Given the description of an element on the screen output the (x, y) to click on. 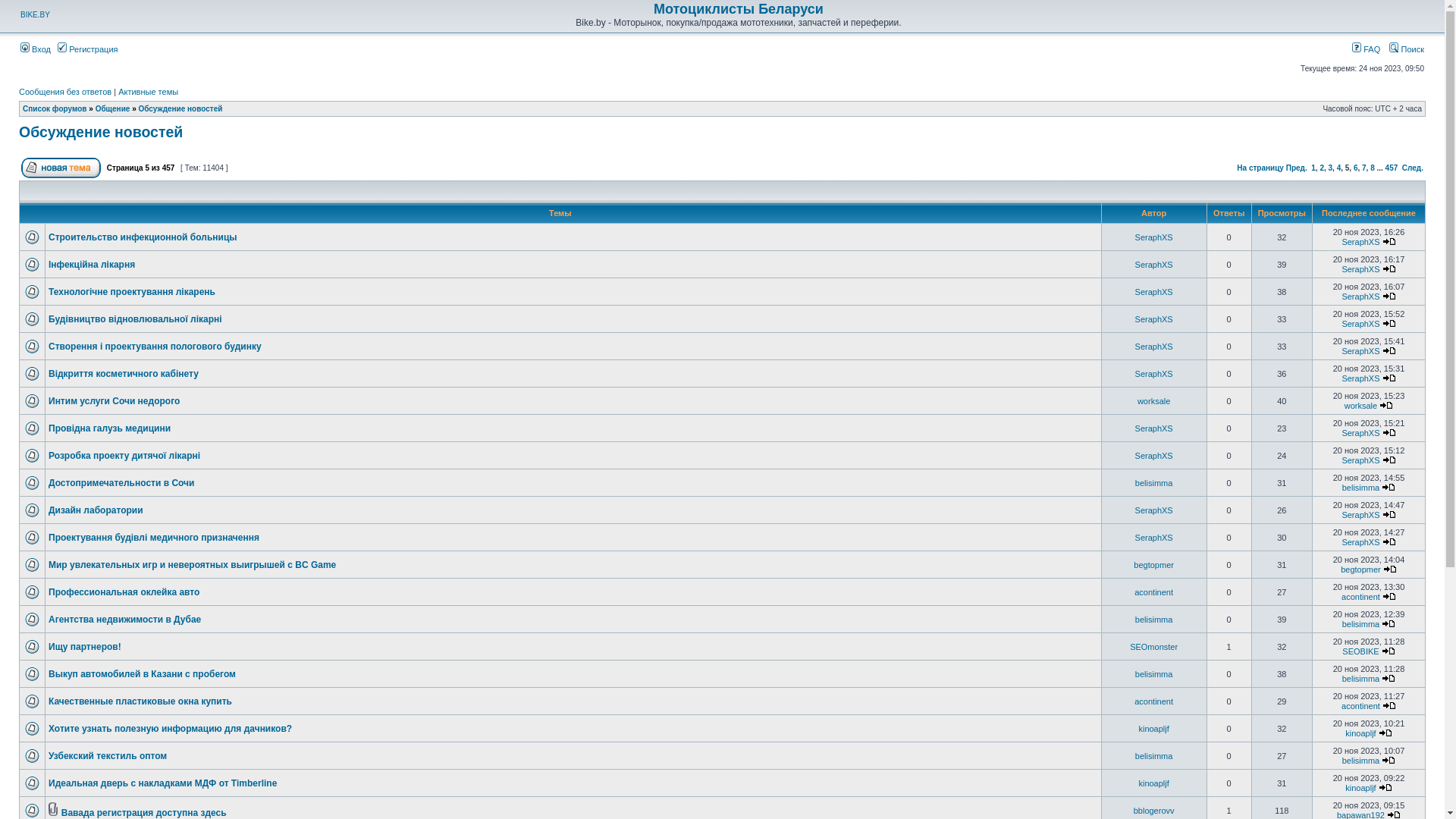
SeraphXS Element type: text (1360, 350)
SeraphXS Element type: text (1154, 372)
SeraphXS Element type: text (1360, 377)
begtopmer Element type: text (1360, 569)
SeraphXS Element type: text (1360, 459)
belisimma Element type: text (1361, 678)
SeraphXS Element type: text (1360, 514)
acontinent Element type: text (1153, 700)
SEOmonster Element type: text (1153, 645)
SeraphXS Element type: text (1360, 432)
kinoapljf Element type: text (1360, 732)
worksale Element type: text (1360, 405)
4 Element type: text (1338, 167)
SeraphXS Element type: text (1154, 318)
SeraphXS Element type: text (1360, 541)
SeraphXS Element type: text (1154, 236)
1 Element type: text (1313, 167)
SeraphXS Element type: text (1154, 427)
SeraphXS Element type: text (1360, 268)
belisimma Element type: text (1154, 481)
SeraphXS Element type: text (1154, 345)
belisimma Element type: text (1361, 623)
SeraphXS Element type: text (1154, 536)
belisimma Element type: text (1361, 487)
acontinent Element type: text (1360, 596)
BIKE.BY Element type: text (35, 14)
8 Element type: text (1372, 167)
belisimma Element type: text (1154, 754)
2 Element type: text (1321, 167)
SeraphXS Element type: text (1154, 454)
kinoapljf Element type: text (1153, 727)
SEOBIKE Element type: text (1360, 650)
belisimma Element type: text (1154, 618)
SeraphXS Element type: text (1154, 290)
SeraphXS Element type: text (1154, 509)
belisimma Element type: text (1154, 672)
FAQ Element type: text (1366, 48)
belisimma Element type: text (1361, 760)
SeraphXS Element type: text (1360, 296)
acontinent Element type: text (1153, 591)
457 Element type: text (1391, 167)
6 Element type: text (1355, 167)
7 Element type: text (1363, 167)
begtopmer Element type: text (1153, 563)
worksale Element type: text (1153, 399)
kinoapljf Element type: text (1153, 782)
bblogerovv Element type: text (1153, 809)
acontinent Element type: text (1360, 705)
SeraphXS Element type: text (1154, 263)
kinoapljf Element type: text (1360, 787)
3 Element type: text (1330, 167)
SeraphXS Element type: text (1360, 323)
SeraphXS Element type: text (1360, 241)
